Given the description of an element on the screen output the (x, y) to click on. 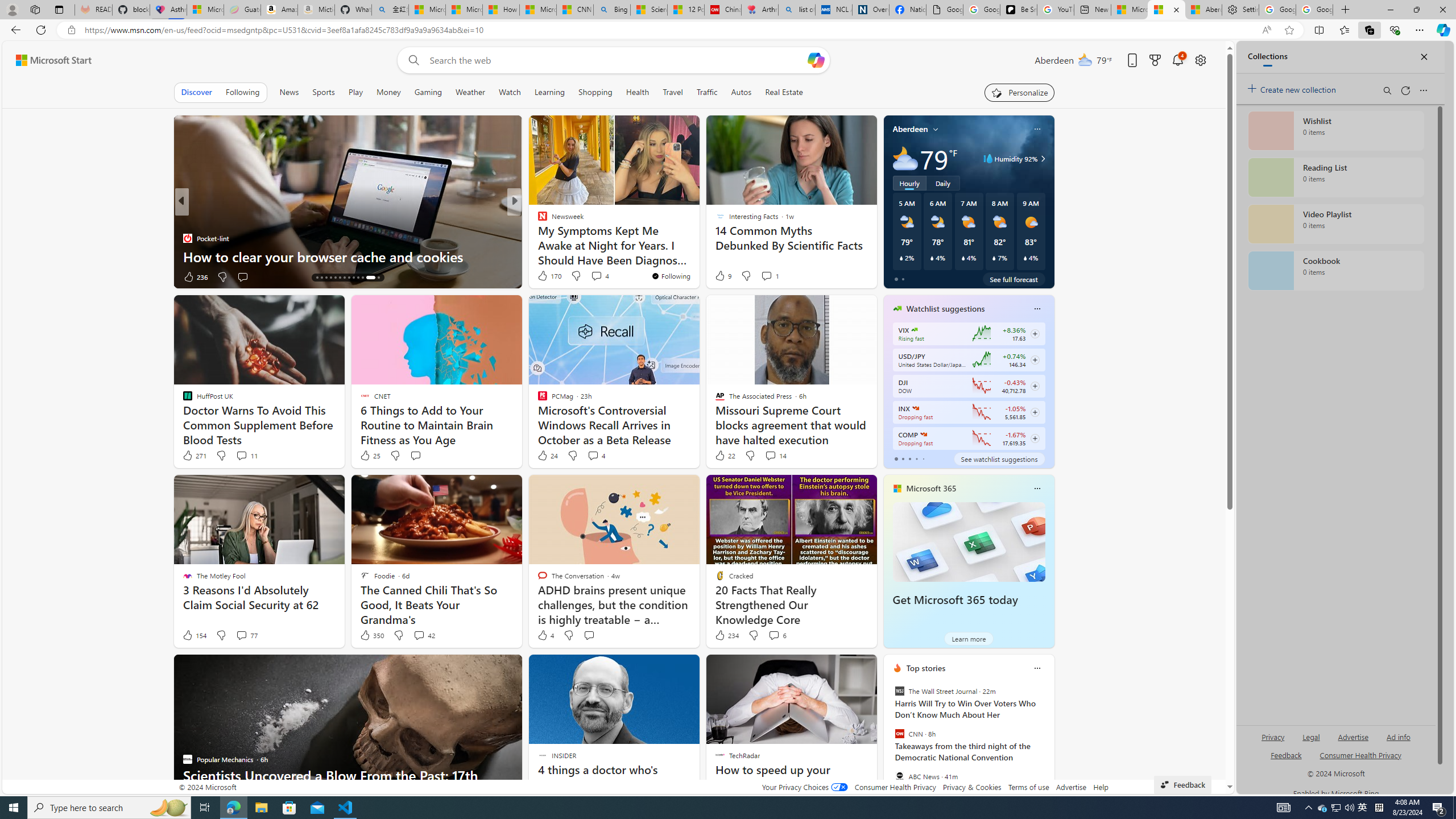
Feedback (1182, 784)
Start the conversation (588, 634)
View comments 6 Comment (773, 635)
Consumer Health Privacy (895, 786)
CNN (898, 733)
TODAY (187, 219)
Money (387, 92)
Microsoft rewards (1154, 60)
